Given the description of an element on the screen output the (x, y) to click on. 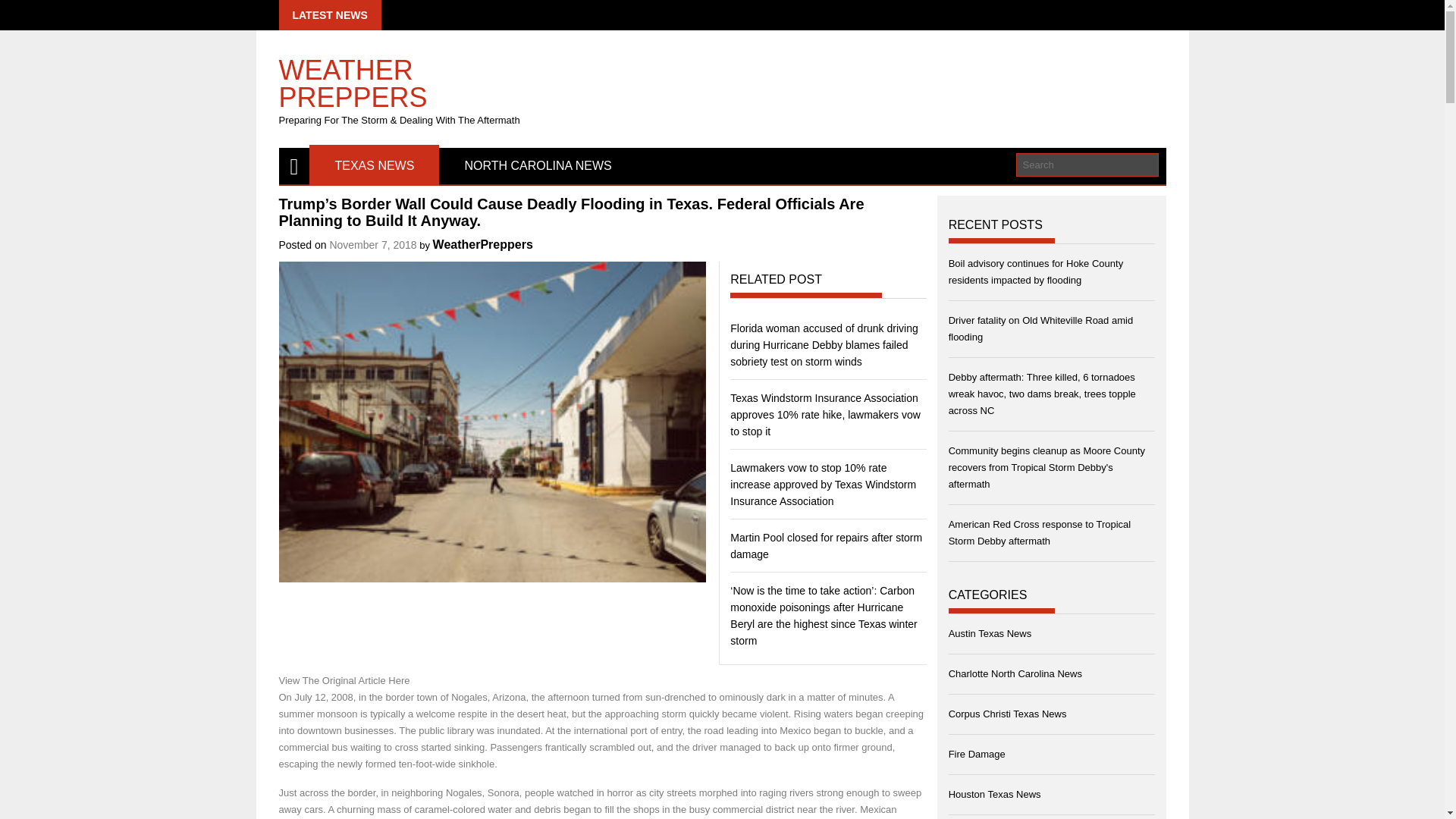
WEATHER PREPPERS (420, 76)
TEXAS NEWS (373, 166)
Fire Damage (977, 753)
Driver fatality on Old Whiteville Road amid flooding (1040, 328)
Charlotte North Carolina News (1015, 672)
November 7, 2018 (372, 244)
Original Article Here (365, 680)
